Given the description of an element on the screen output the (x, y) to click on. 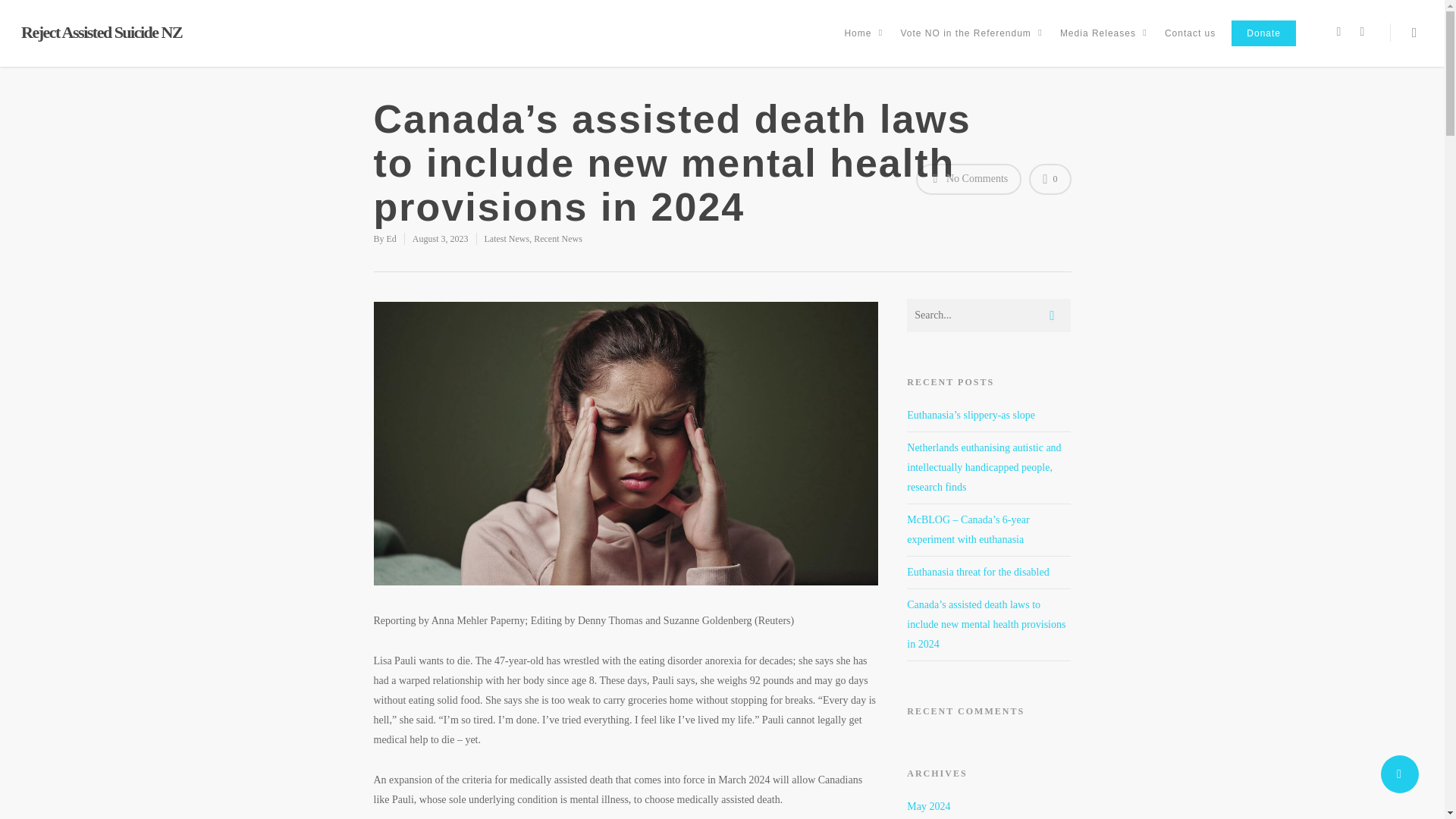
Contact us (1190, 43)
Search for: (988, 315)
Love this (1049, 178)
Posts by Ed (391, 238)
Donate (1263, 43)
Reject Assisted Suicide NZ (101, 32)
Recent News (558, 238)
Euthanasia threat for the disabled (977, 572)
May 2024 (928, 806)
Home (863, 43)
Vote NO in the Referendum (970, 43)
Latest News (506, 238)
Ed (391, 238)
Media Releases (1104, 43)
0 (1049, 178)
